Given the description of an element on the screen output the (x, y) to click on. 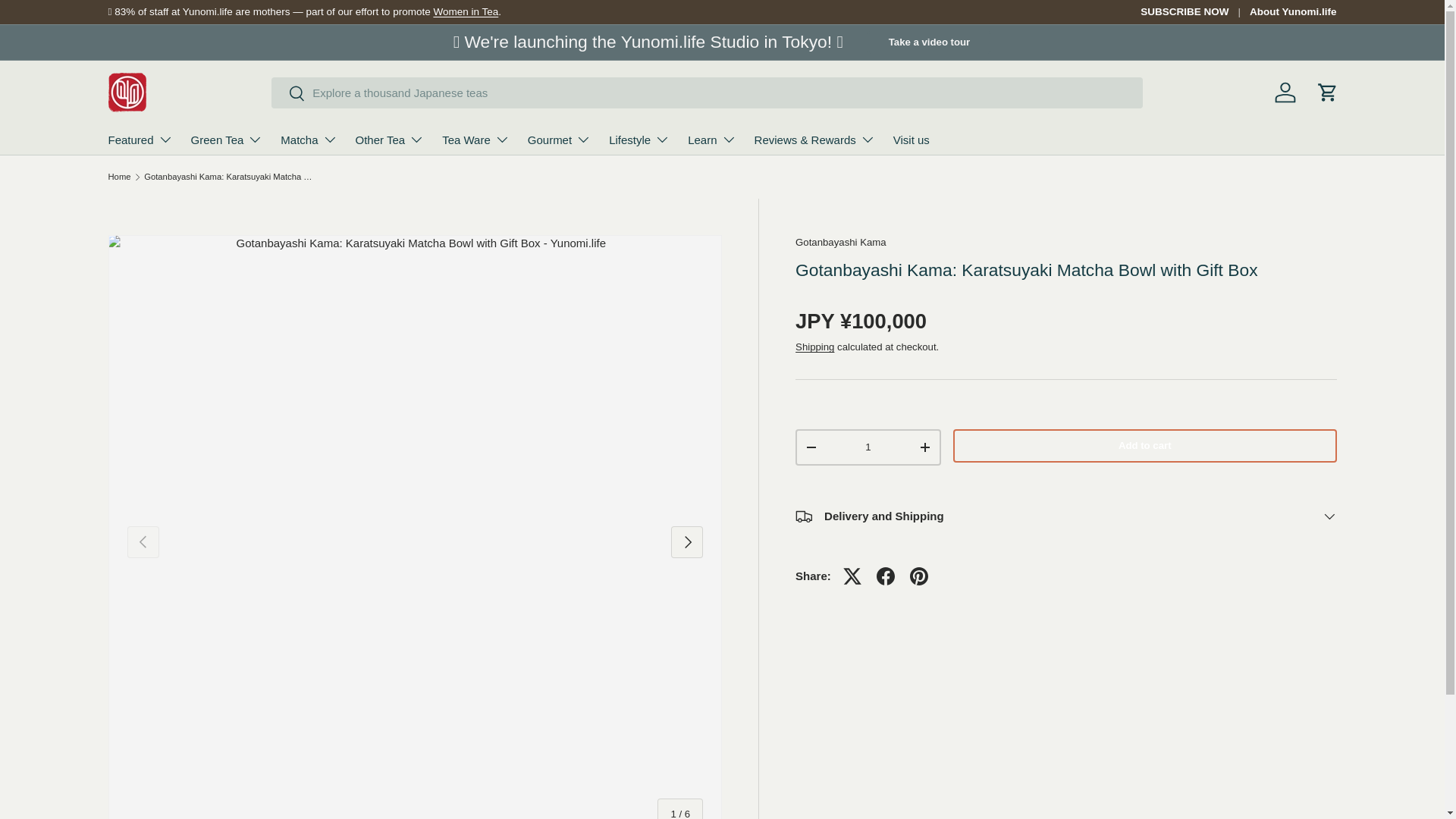
Log in (1284, 92)
1 (868, 447)
Pin on Pinterest (919, 575)
Search (287, 94)
Take a video tour (929, 42)
Women in Tea (464, 11)
Green Tea (226, 139)
Share on Facebook (885, 575)
Featured (139, 139)
Skip to content (69, 21)
Cart (1326, 92)
Tweet on X (852, 575)
Women in Tea (464, 11)
SUBSCRIBE NOW (1194, 11)
About Yunomi.life (1292, 11)
